Given the description of an element on the screen output the (x, y) to click on. 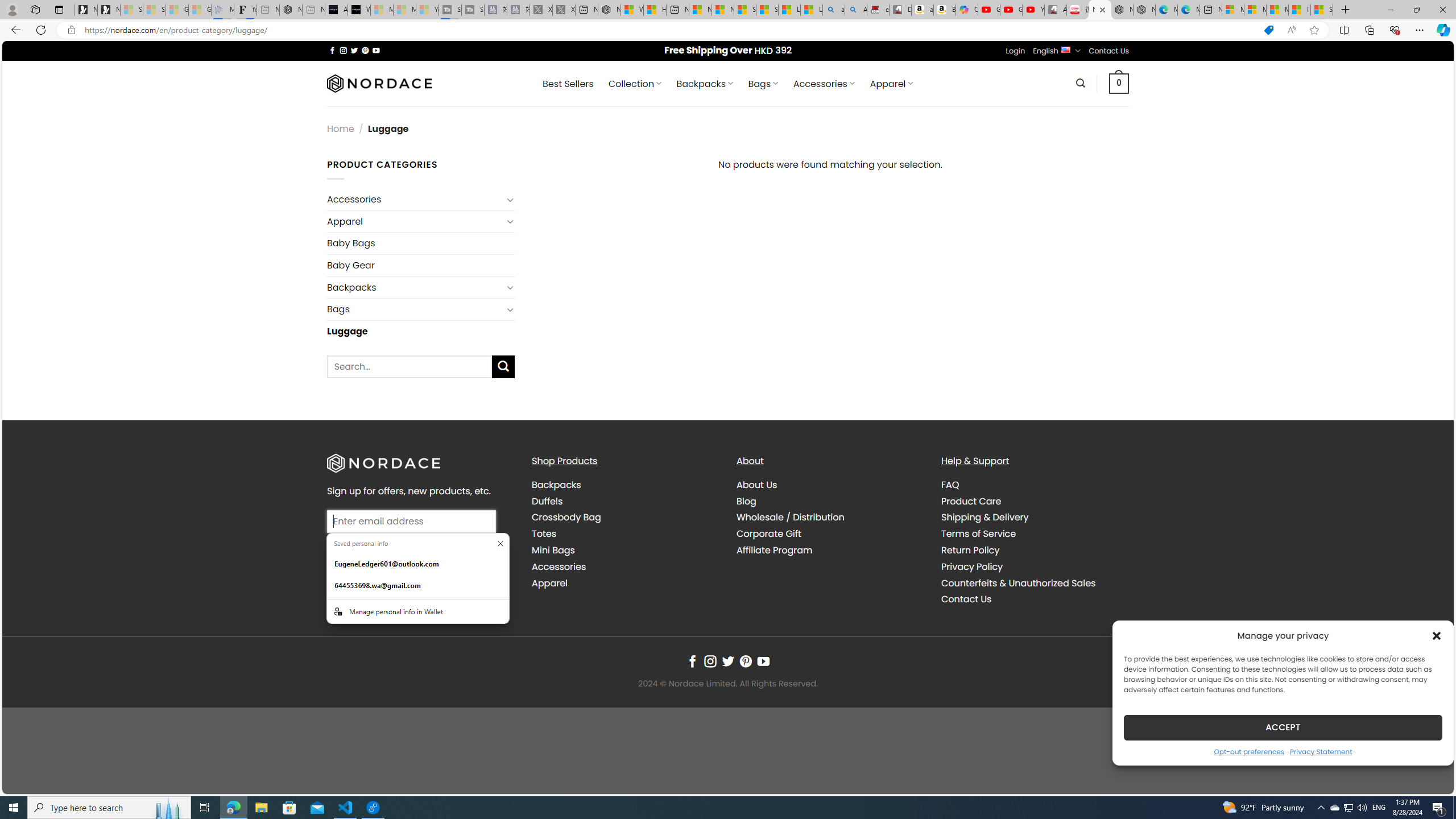
Copilot (966, 9)
Wholesale / Distribution (790, 517)
Tab actions menu (58, 9)
What's the best AI voice generator? - voice.ai (359, 9)
Wildlife - MSN (631, 9)
Bags (415, 309)
Luggage (421, 330)
Class: cmplz-close (1436, 635)
All Cubot phones (1055, 9)
Submit (411, 553)
Back (13, 29)
amazon - Search (834, 9)
Copilot (Ctrl+Shift+.) (1442, 29)
Totes (625, 533)
